Given the description of an element on the screen output the (x, y) to click on. 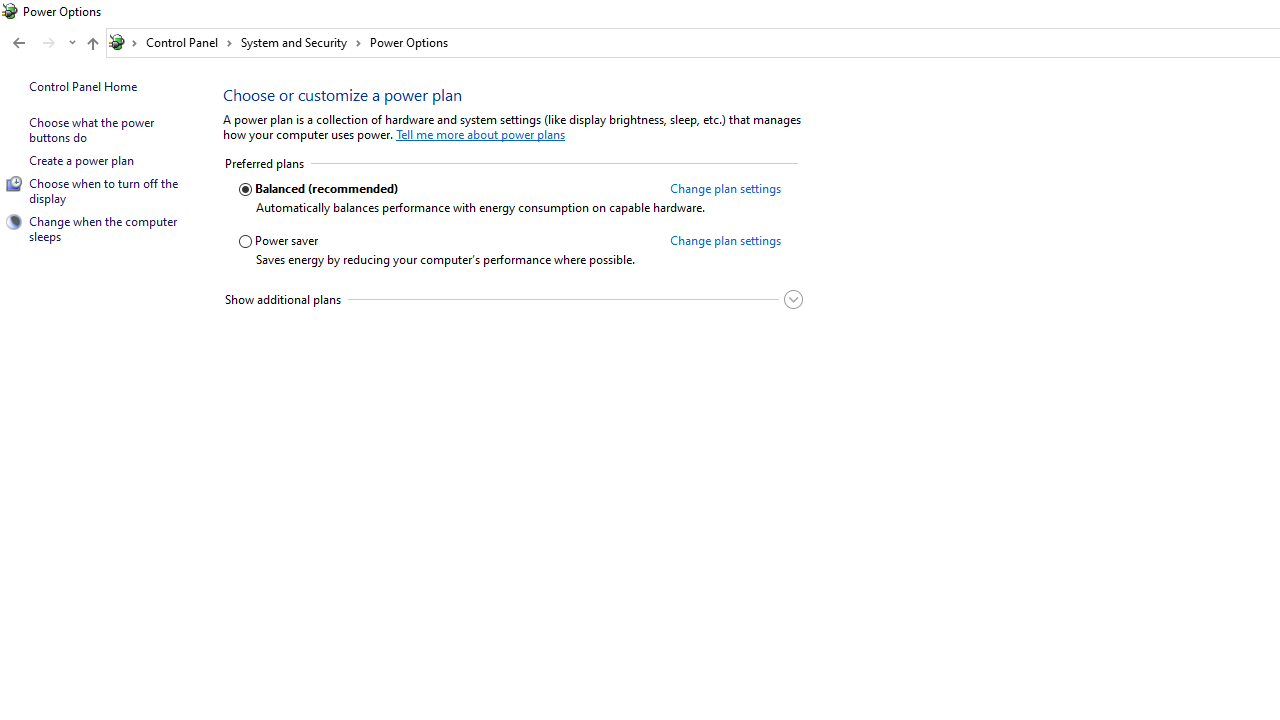
Back to System and Security (Alt + Left Arrow) (18, 43)
Balanced (recommended) (447, 189)
Change plan settings for the Balanced (recommended) plan (724, 187)
System (10, 11)
Choose what the power buttons do (92, 129)
Choose when to turn off the display (104, 190)
Change when the computer sleeps (103, 228)
Show additional plans (512, 299)
Up to "System and Security" (Alt + Up Arrow) (92, 43)
Control Panel Home (82, 86)
